Given the description of an element on the screen output the (x, y) to click on. 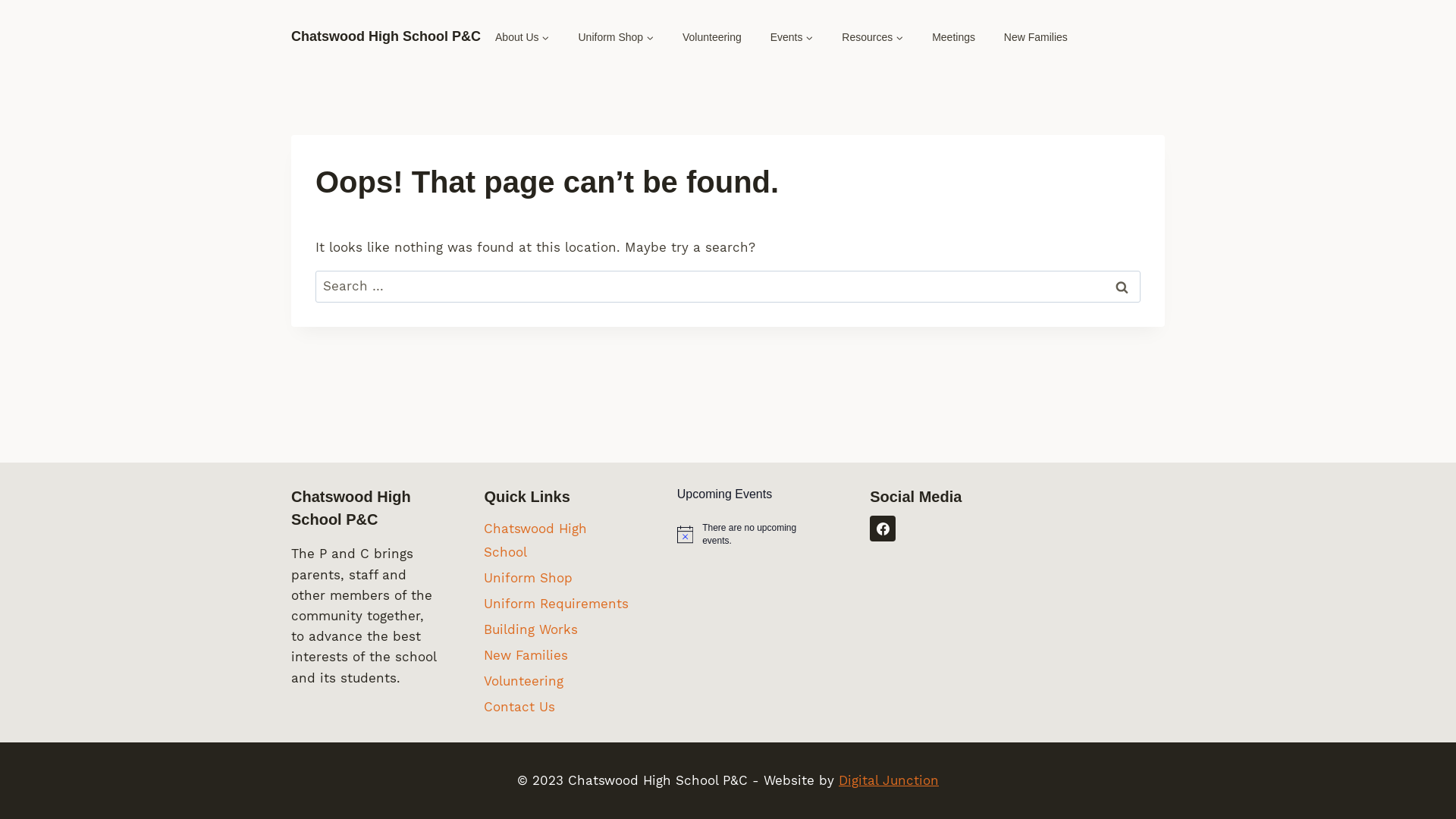
Resources Element type: text (872, 37)
Uniform Shop Element type: text (615, 37)
Volunteering Element type: text (556, 680)
Uniform Shop Element type: text (556, 577)
New Families Element type: text (1035, 37)
Meetings Element type: text (953, 37)
New Families Element type: text (556, 655)
Contact Us Element type: text (556, 706)
Digital Junction Element type: text (888, 779)
Chatswood High School Element type: text (556, 539)
About Us Element type: text (522, 37)
Search Element type: text (1121, 286)
Uniform Requirements Element type: text (556, 603)
Building Works Element type: text (556, 629)
Chatswood High School P&C Element type: text (385, 36)
Volunteering Element type: text (711, 37)
Events Element type: text (791, 37)
